Given the description of an element on the screen output the (x, y) to click on. 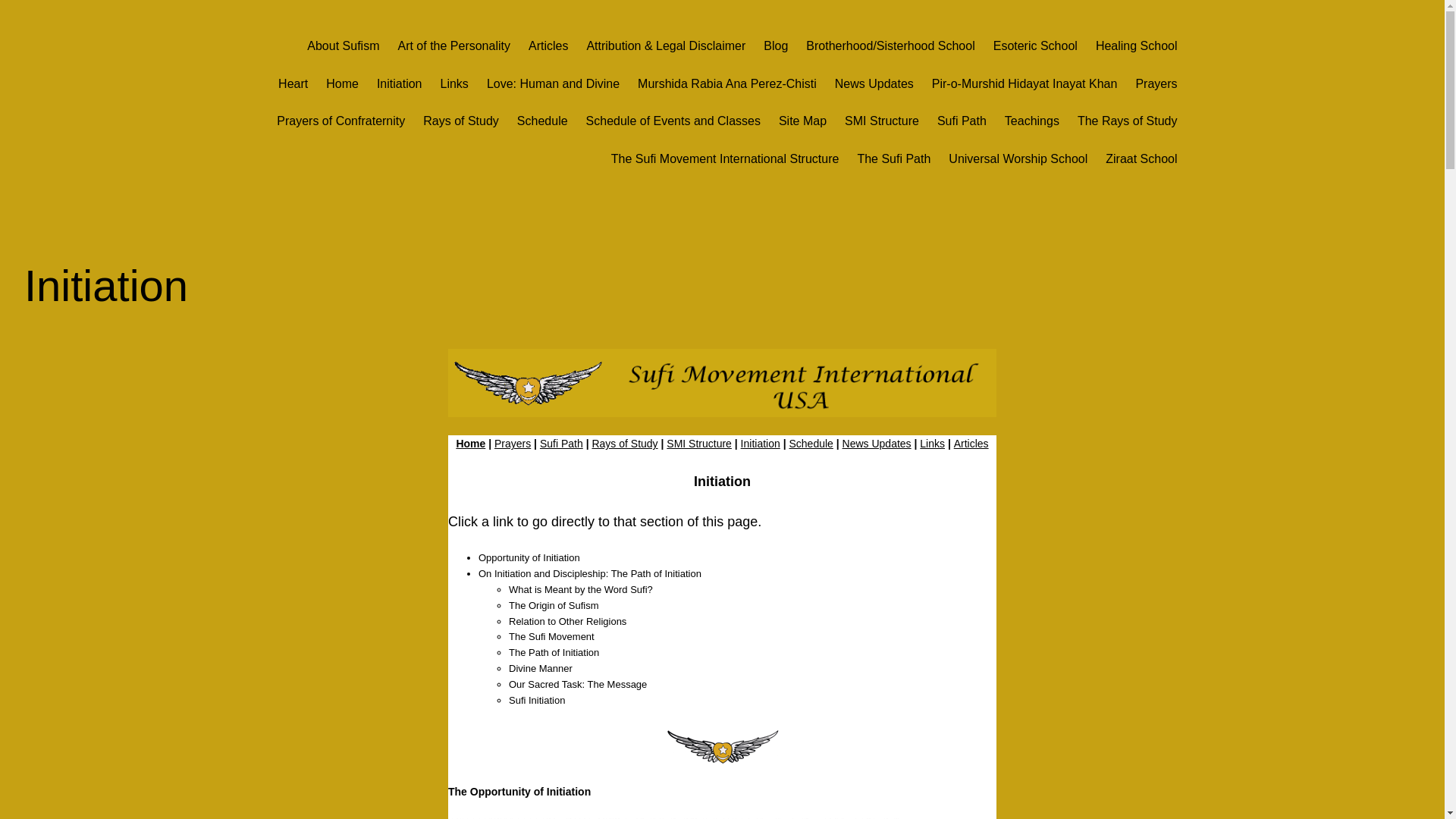
Site Map (802, 121)
Initiation (760, 443)
Healing School (1136, 46)
Heart (292, 84)
SMI Structure (881, 121)
Murshida Rabia Ana Perez-Chisti (726, 84)
Schedule (810, 443)
Sufi Path (962, 121)
About Sufism (342, 46)
Links (454, 84)
Rays of Study (461, 121)
News Updates (874, 84)
Prayers of Confraternity (340, 121)
The Rays of Study (1127, 121)
Initiation (399, 84)
